Given the description of an element on the screen output the (x, y) to click on. 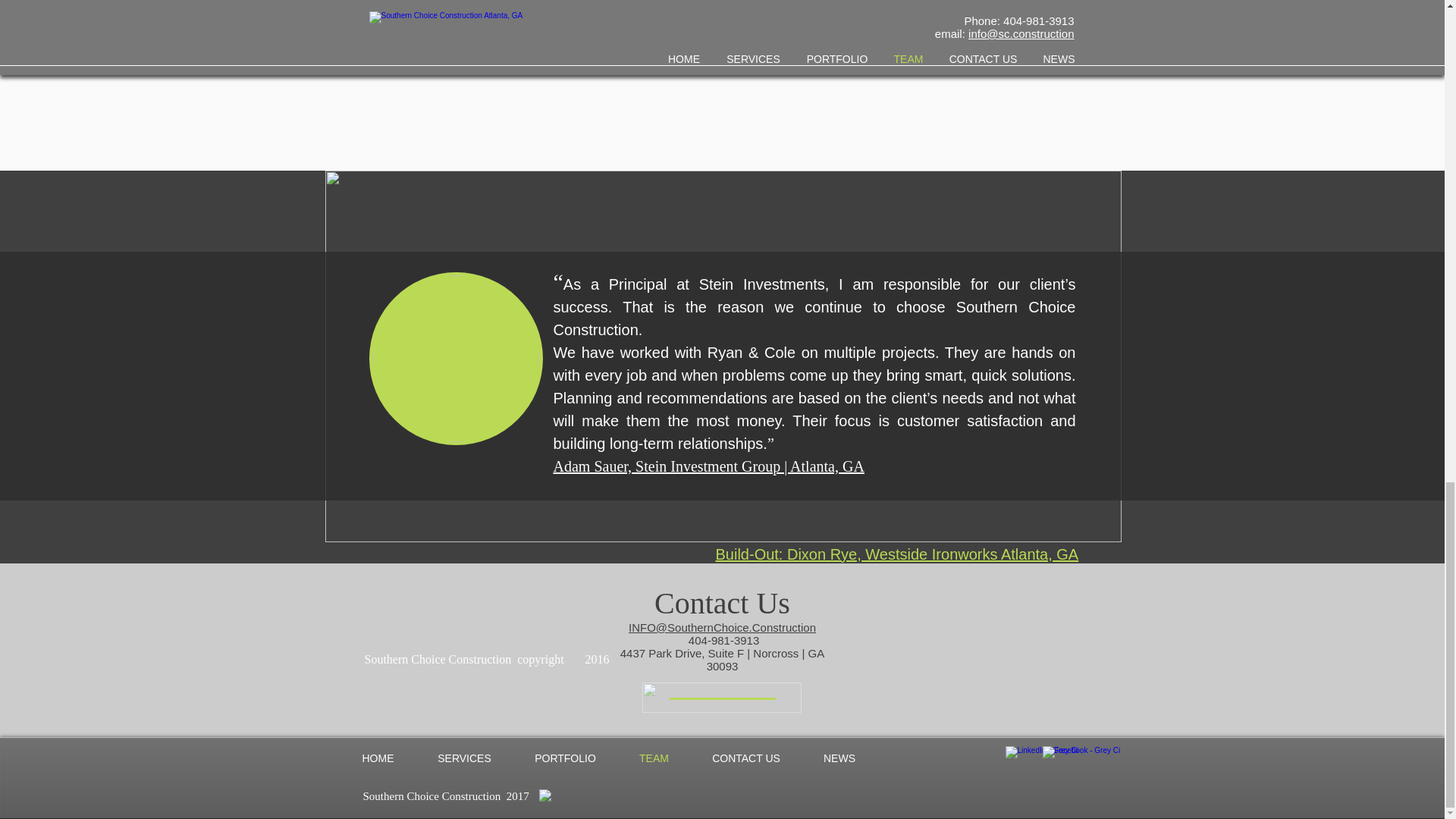
Build-Out: Dixon Rye, Westside Ironworks Atlanta, GA (897, 554)
SERVICES (463, 758)
HOME (376, 758)
CONTACT US (746, 758)
PORTFOLIO (564, 758)
TEAM (653, 758)
NEWS (839, 758)
